Given the description of an element on the screen output the (x, y) to click on. 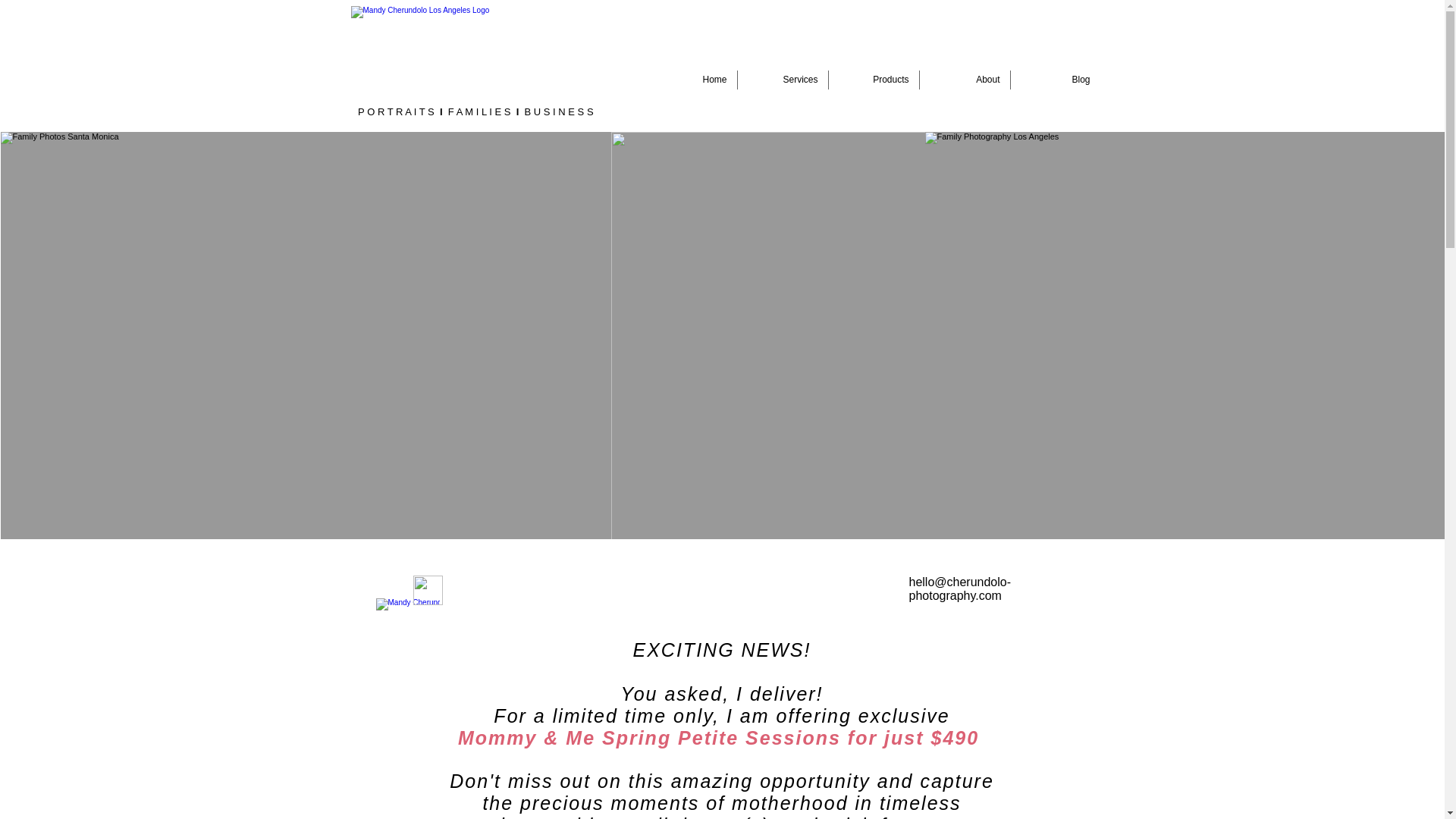
Products (873, 79)
Home (691, 79)
Services (781, 79)
Blog (1054, 79)
About (963, 79)
